Given the description of an element on the screen output the (x, y) to click on. 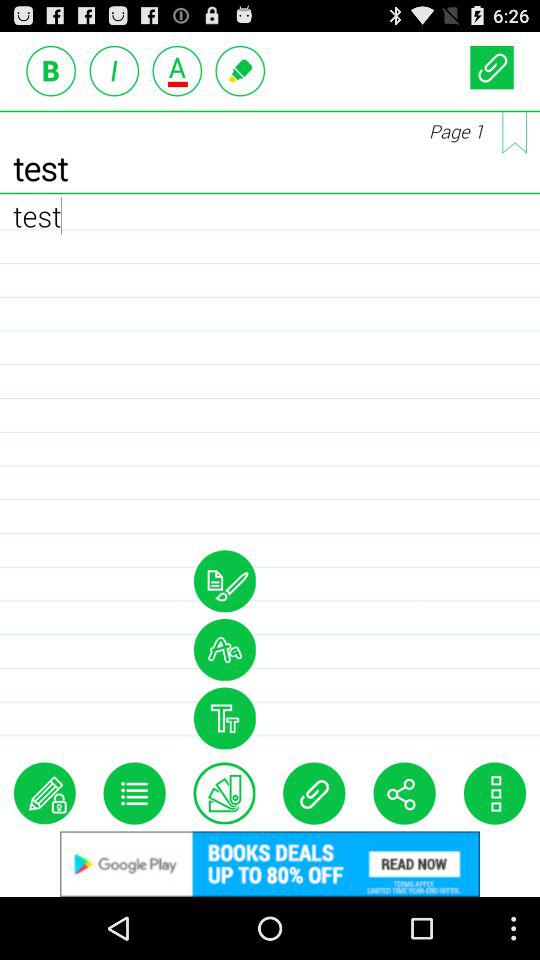
toggle edit function (44, 793)
